Given the description of an element on the screen output the (x, y) to click on. 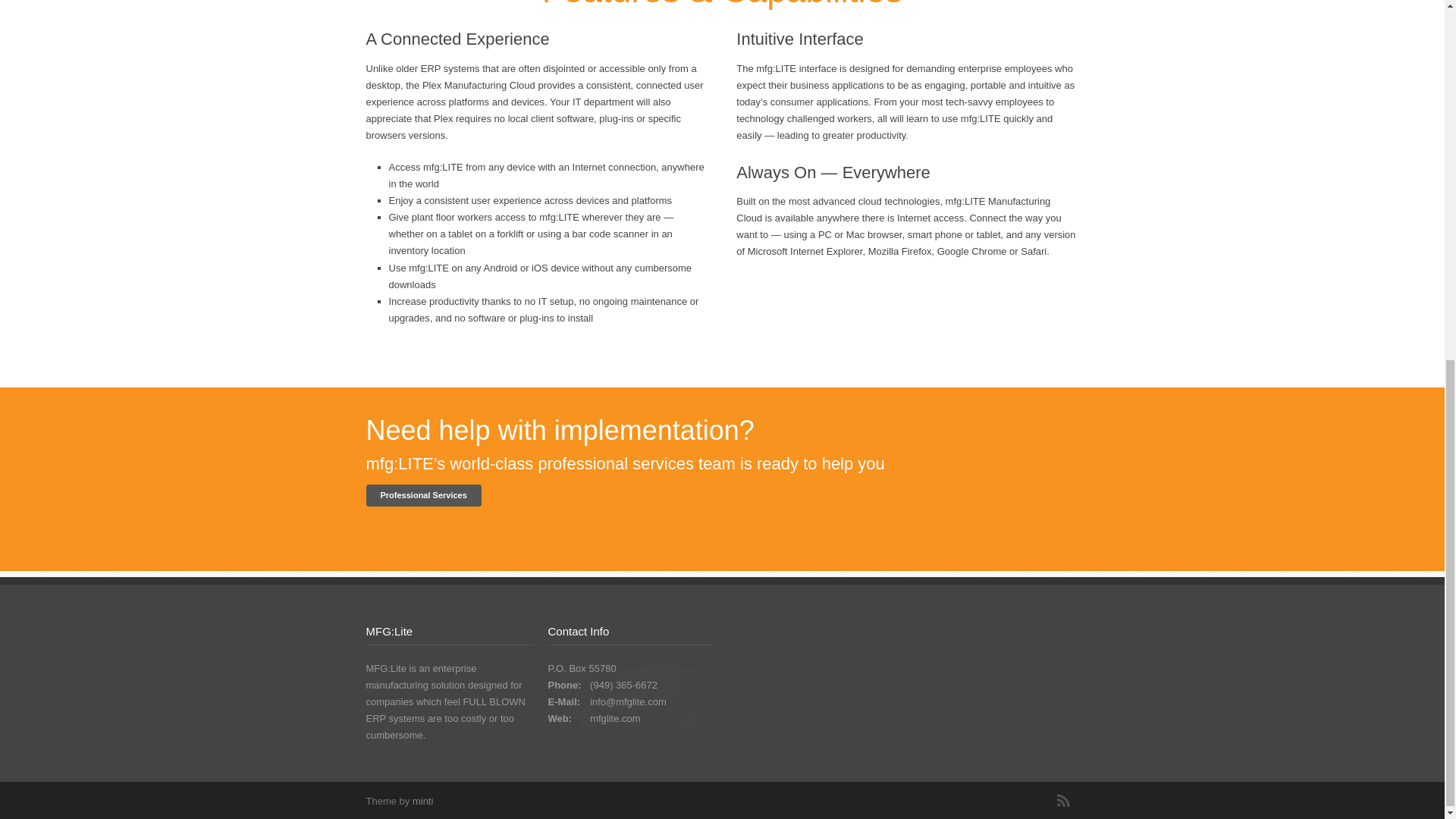
RSS (1063, 800)
mfglite.com (614, 717)
Professional Services (422, 495)
minti (422, 800)
